Given the description of an element on the screen output the (x, y) to click on. 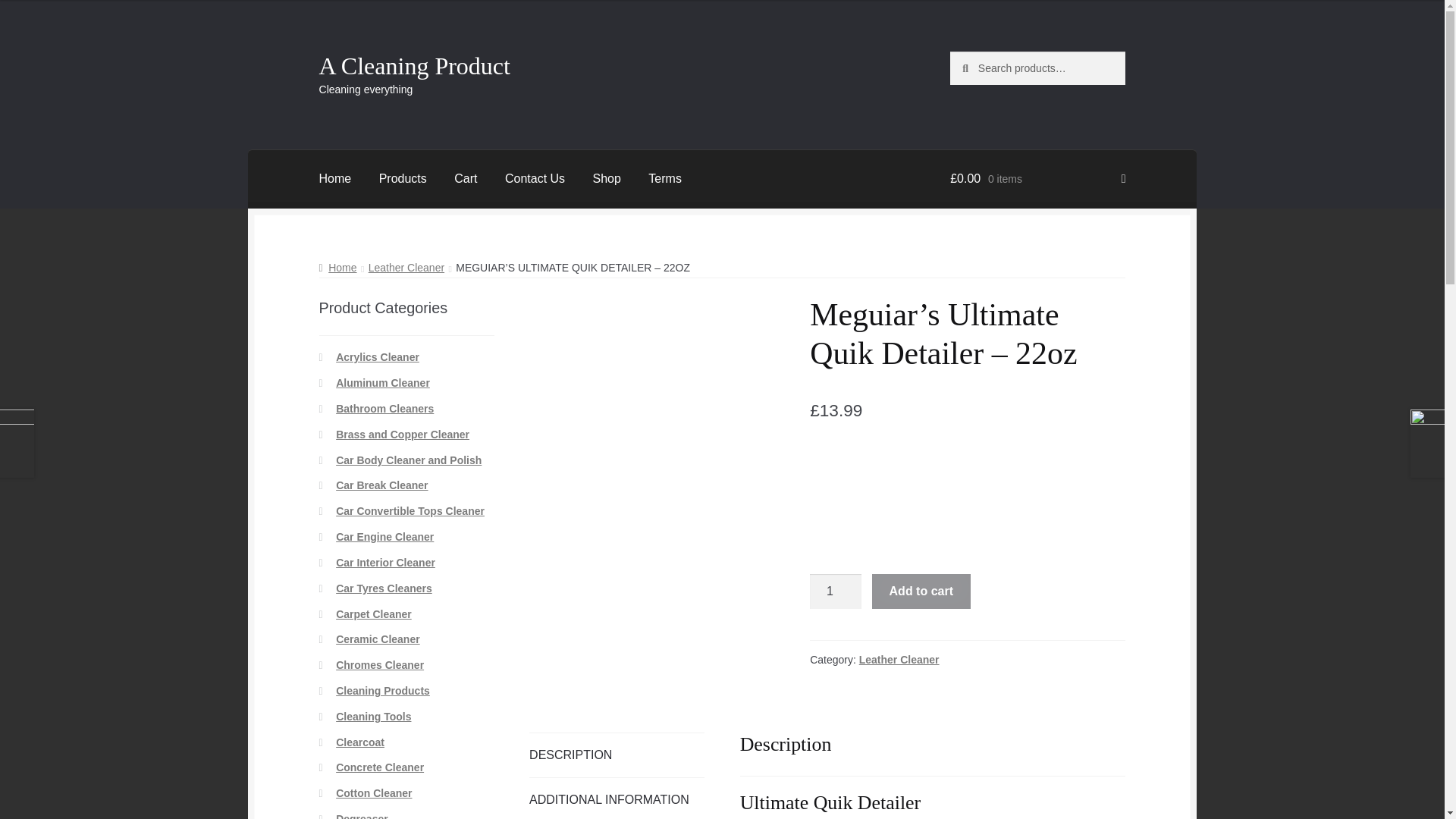
Products (402, 178)
1 (835, 591)
View your shopping cart (1037, 178)
DESCRIPTION (616, 755)
Home (337, 267)
Acrylics Cleaner (377, 357)
A Cleaning Product (414, 65)
Add to cart (921, 591)
